Given the description of an element on the screen output the (x, y) to click on. 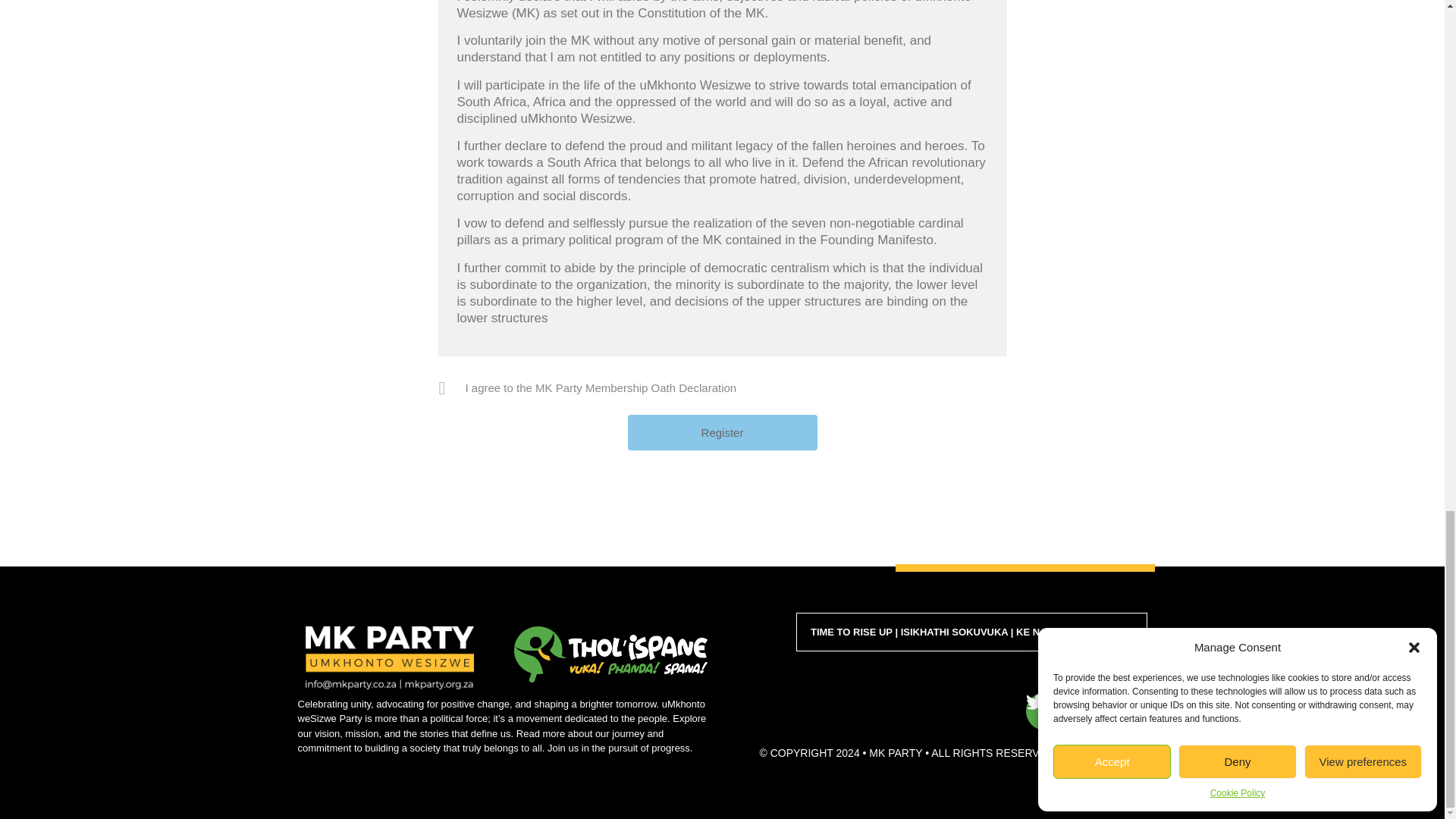
Register (721, 432)
